Given the description of an element on the screen output the (x, y) to click on. 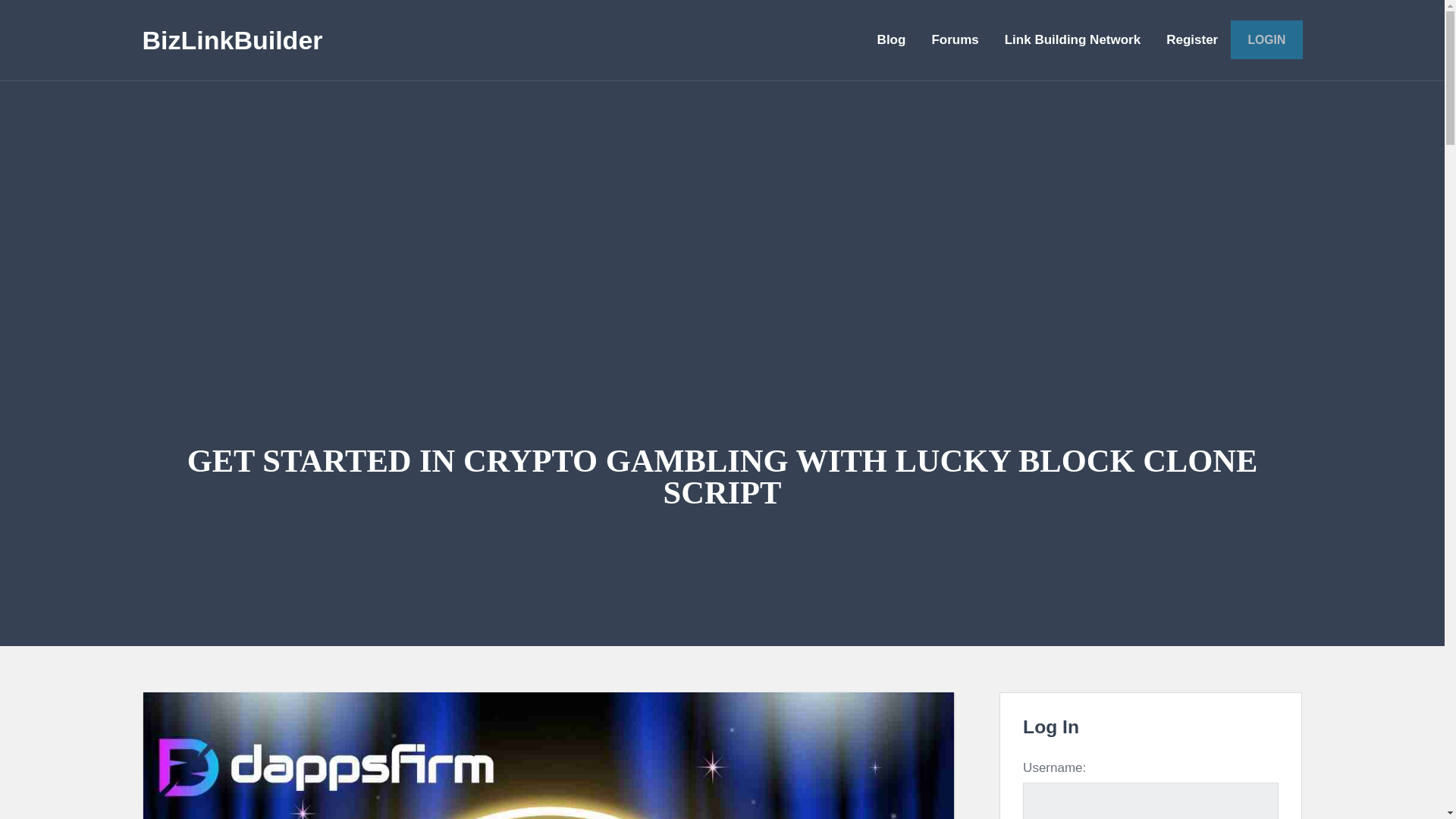
LOGIN (1265, 39)
Register (1191, 40)
BizLinkBuilder (232, 39)
Link Building Network (1072, 40)
Forums (954, 40)
